Given the description of an element on the screen output the (x, y) to click on. 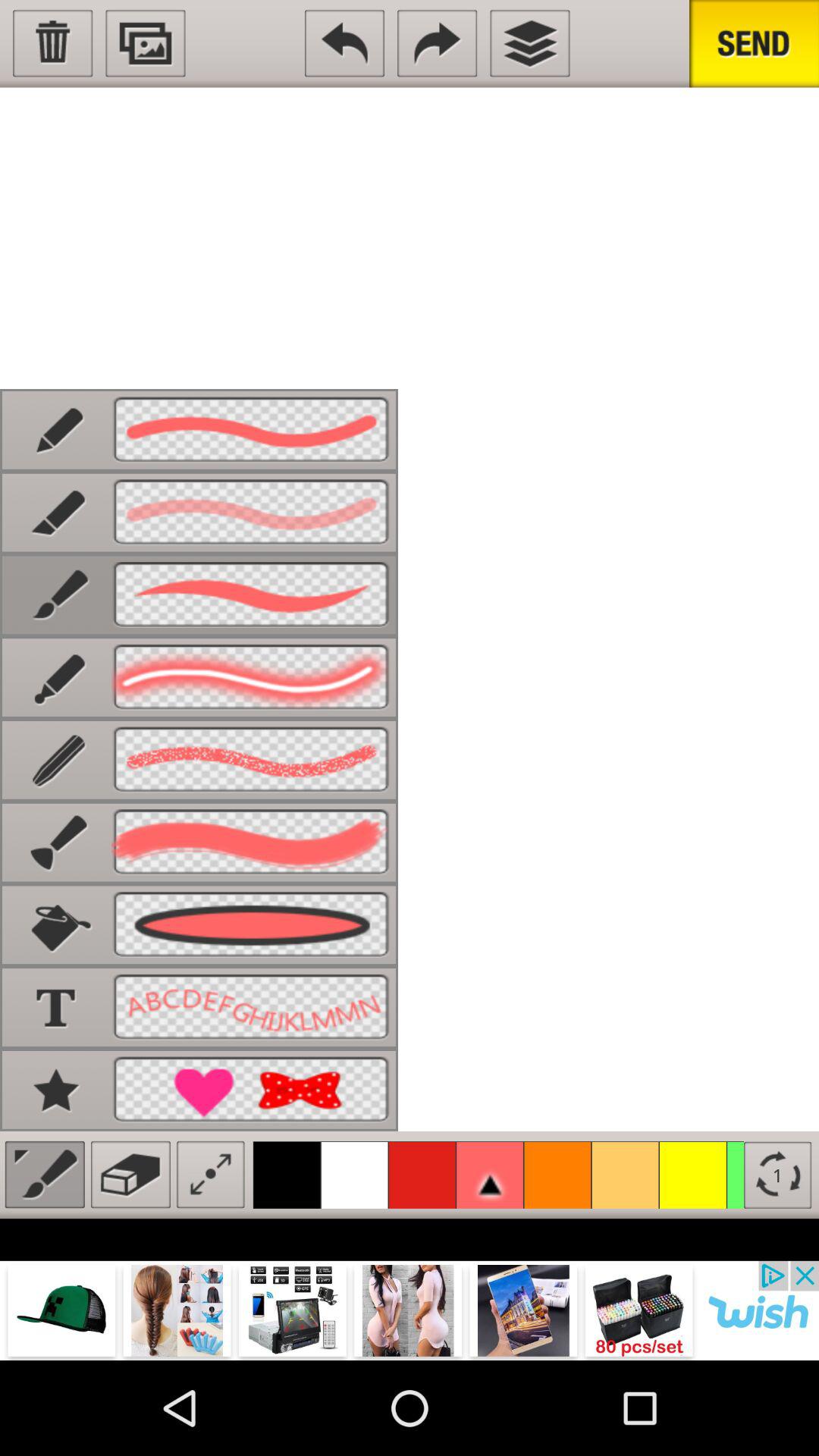
advertisement (409, 1310)
